Given the description of an element on the screen output the (x, y) to click on. 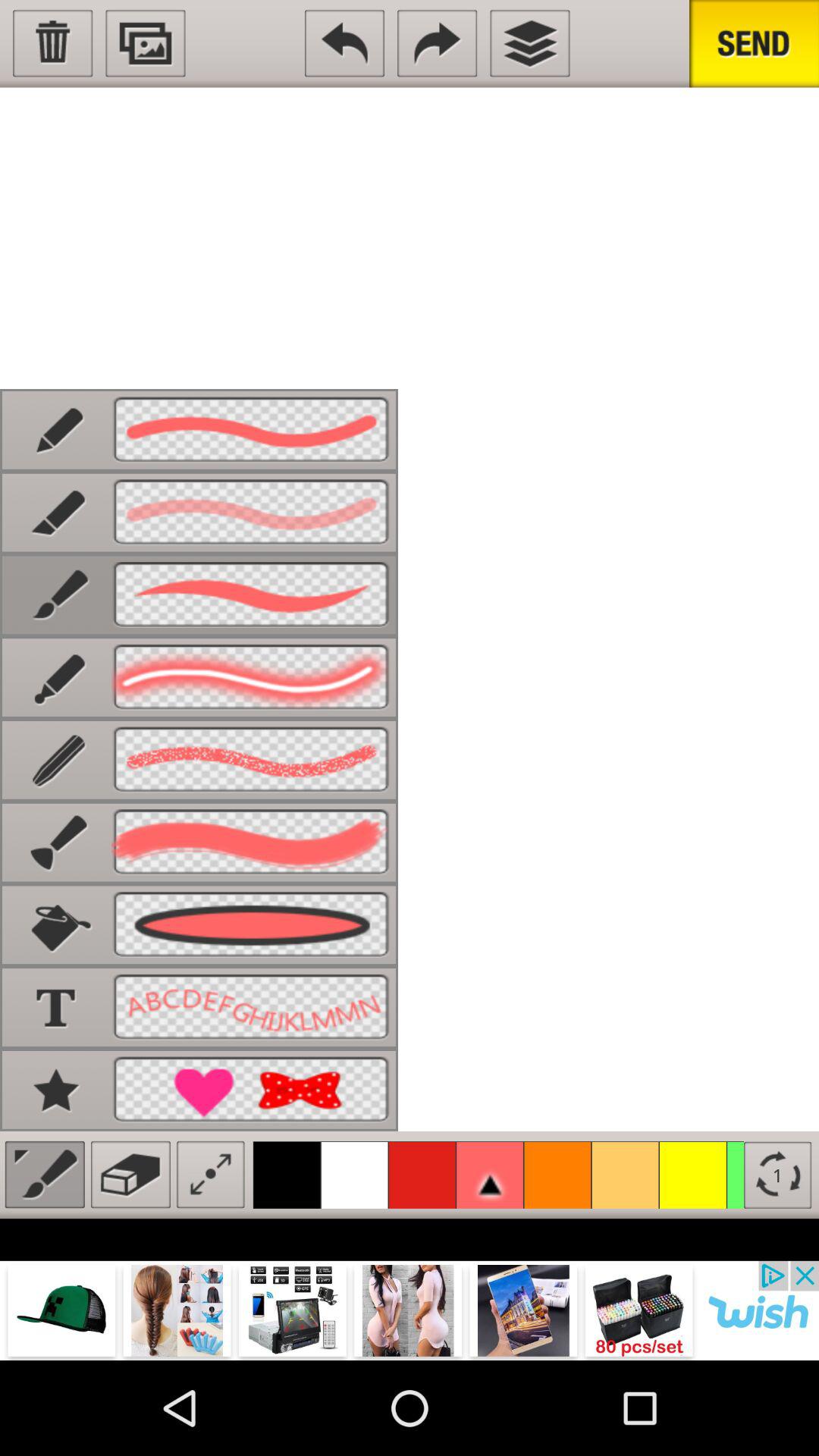
advertisement (409, 1310)
